Given the description of an element on the screen output the (x, y) to click on. 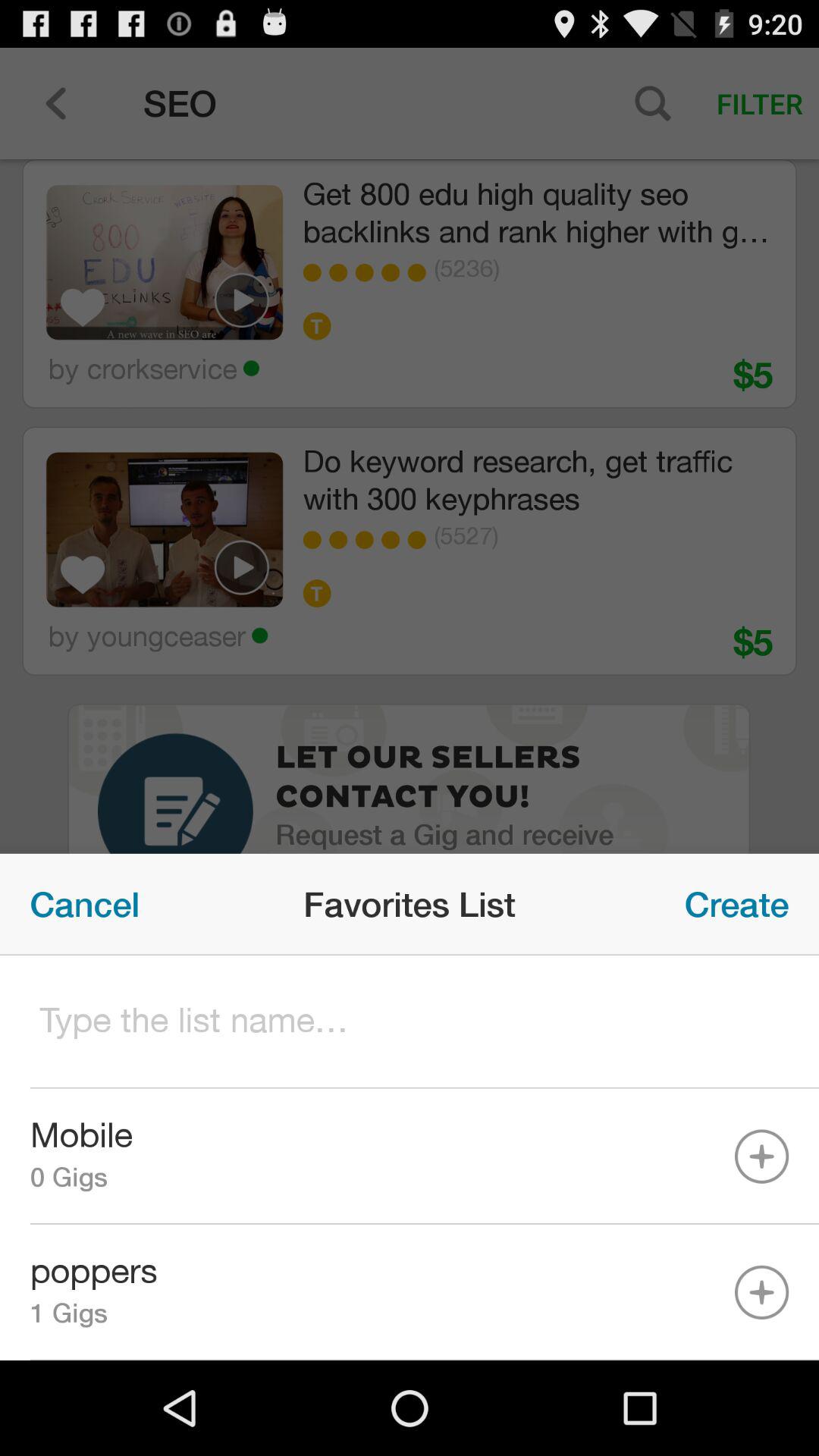
select create icon (736, 903)
